Given the description of an element on the screen output the (x, y) to click on. 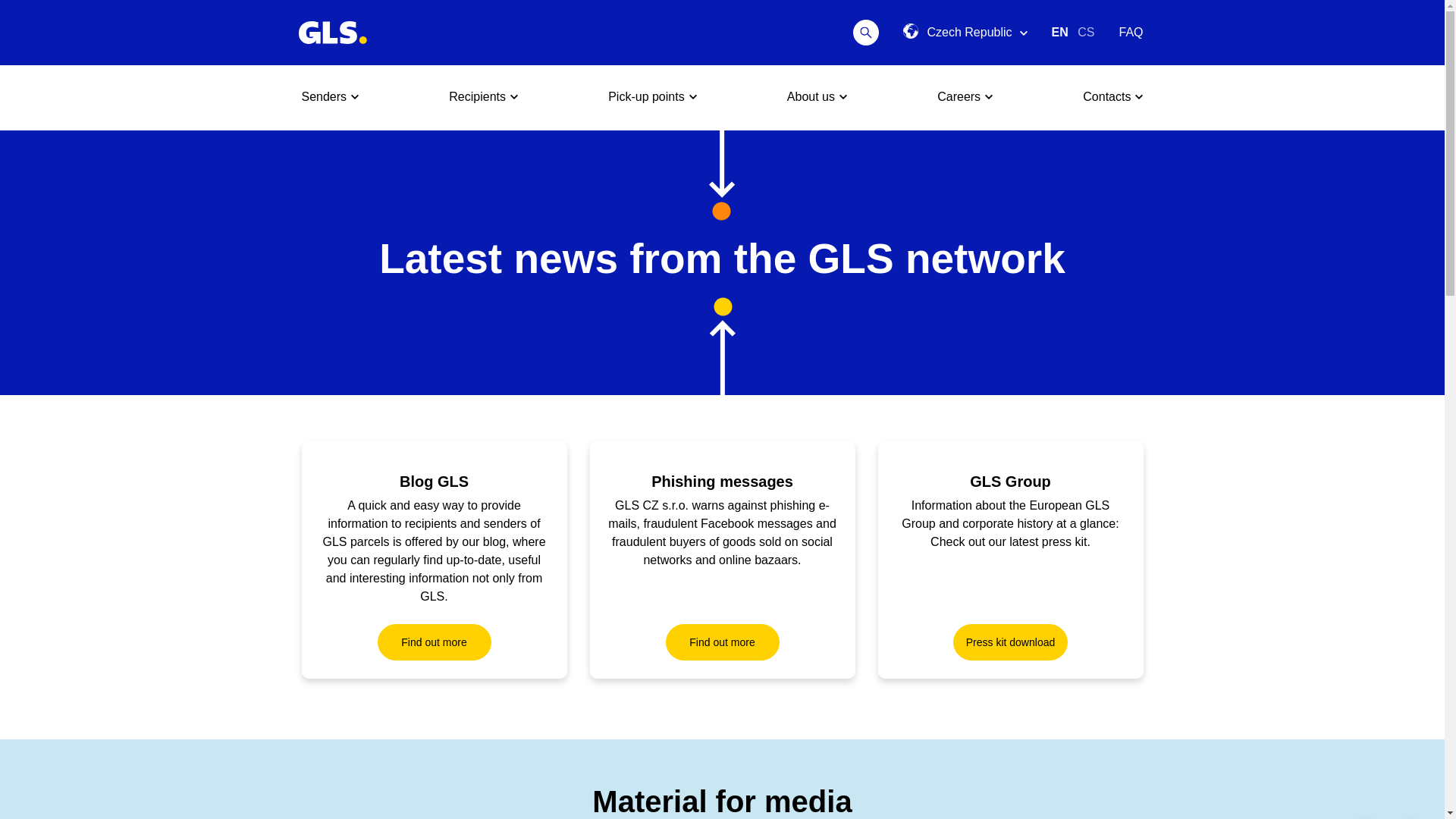
Recipients (483, 97)
Czech Republic (964, 32)
FAQ (1130, 31)
EN (1061, 31)
Pick-up points (652, 97)
CS (1085, 31)
